Given the description of an element on the screen output the (x, y) to click on. 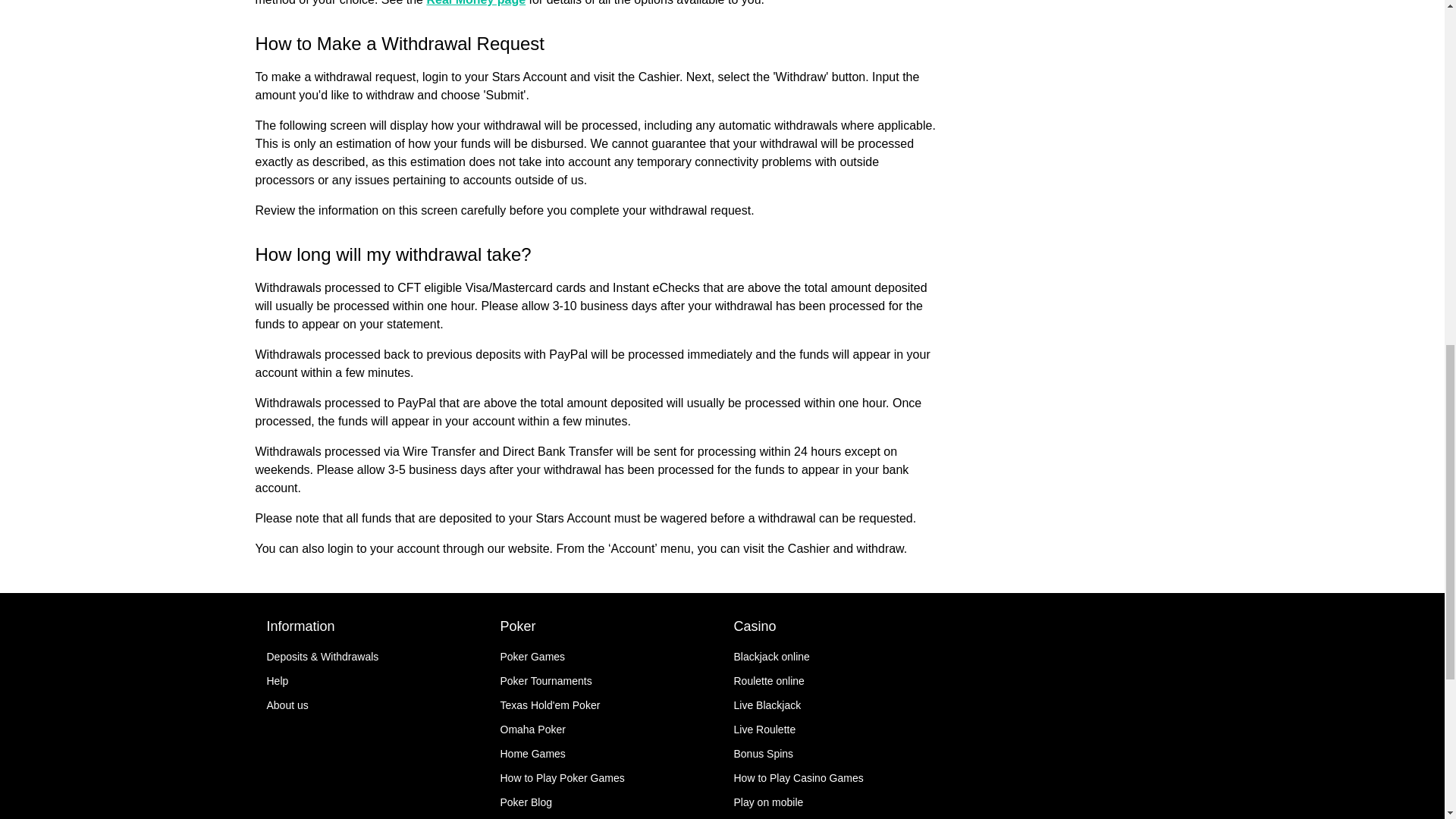
Poker Tournaments (546, 680)
Omaha Poker (533, 729)
About us (287, 705)
Texas Hold'em Poker (549, 705)
Poker Games (533, 656)
Live Blackjack (767, 705)
Roulette online (769, 680)
How to Play Poker Games (562, 777)
Real Money page (475, 2)
Poker Blog (525, 802)
Live Roulette (764, 729)
Help (277, 680)
Home Games (533, 753)
Blackjack online (771, 656)
